Given the description of an element on the screen output the (x, y) to click on. 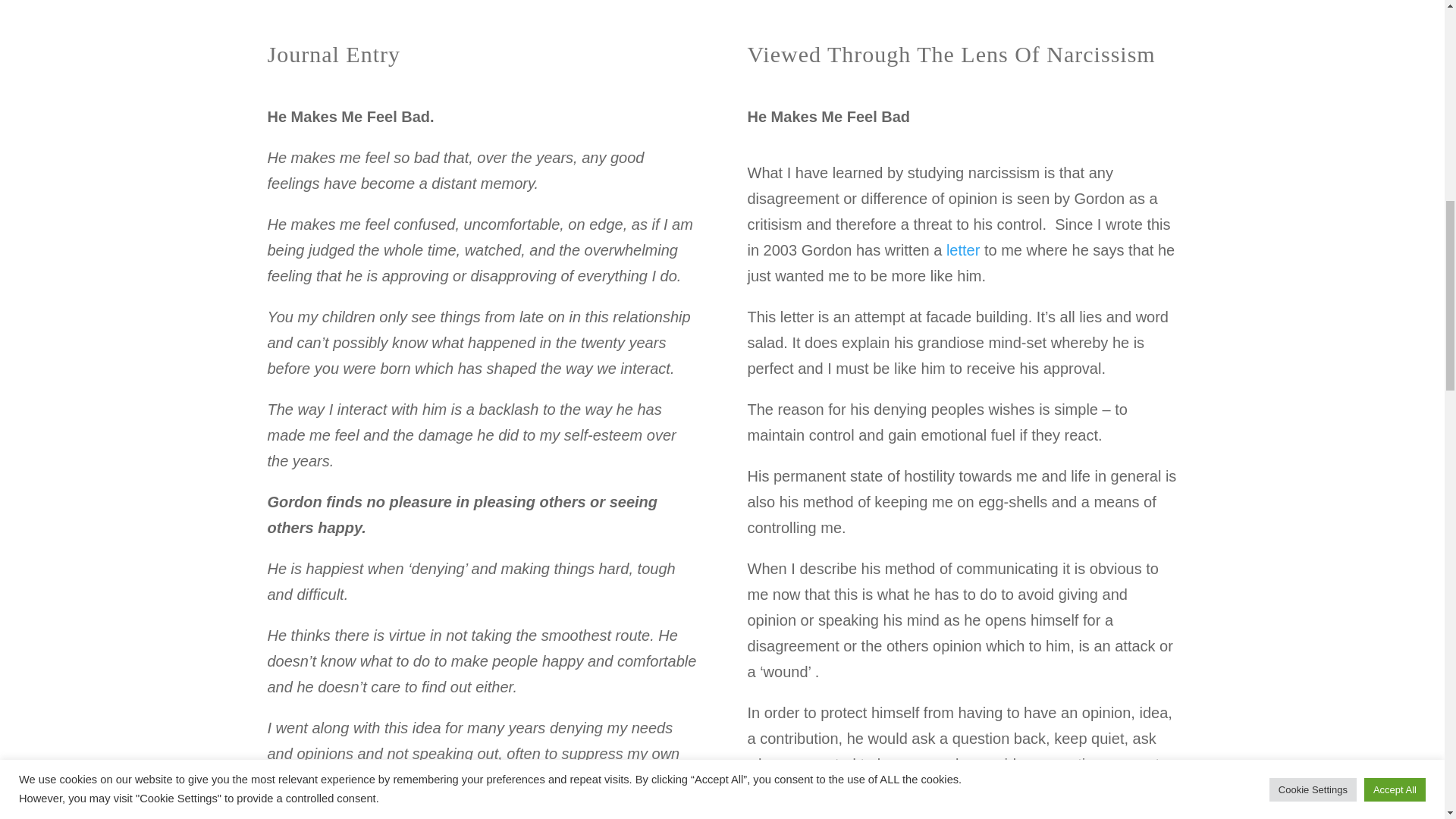
letter (960, 249)
